Given the description of an element on the screen output the (x, y) to click on. 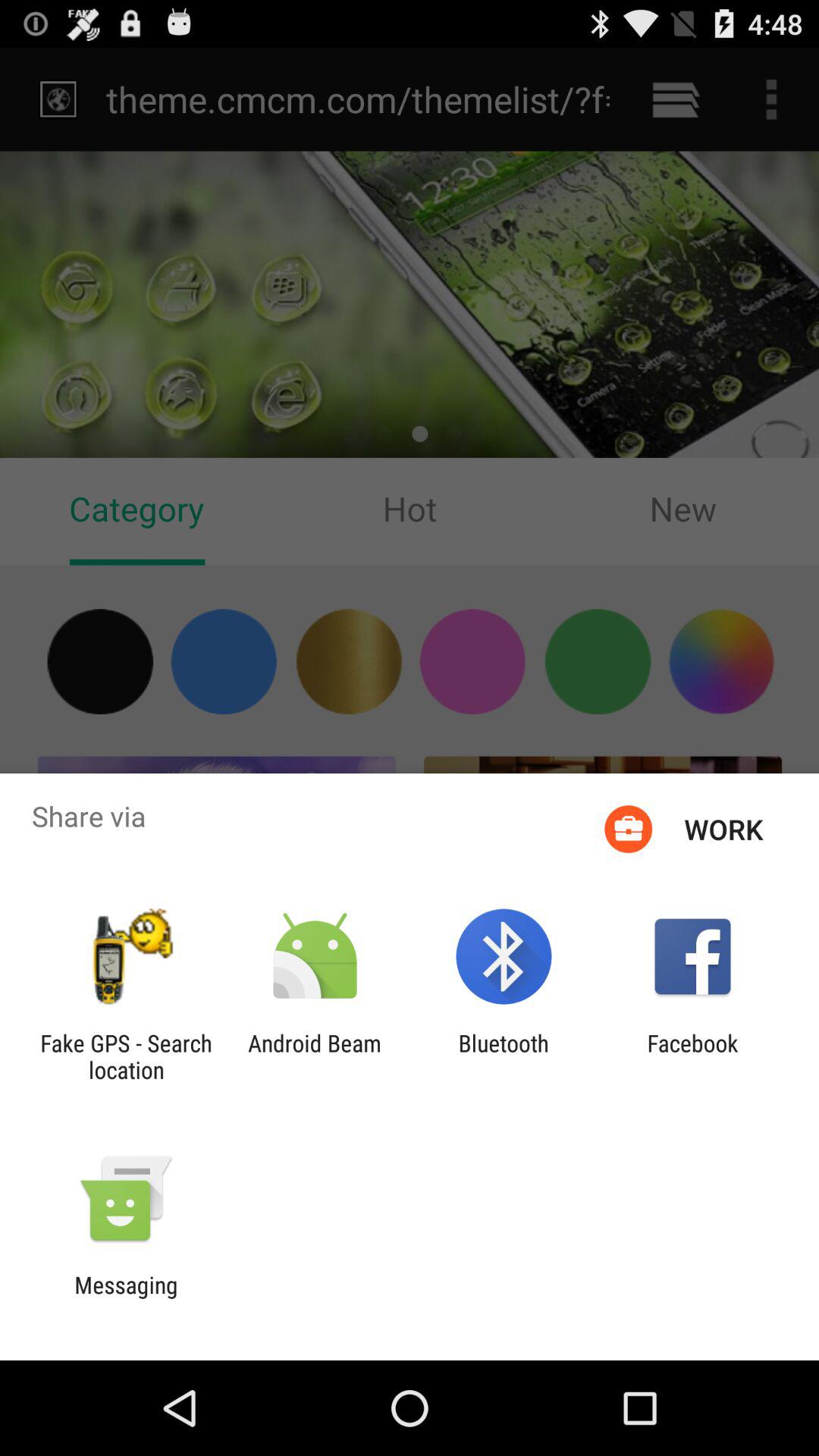
click item next to bluetooth icon (692, 1056)
